Given the description of an element on the screen output the (x, y) to click on. 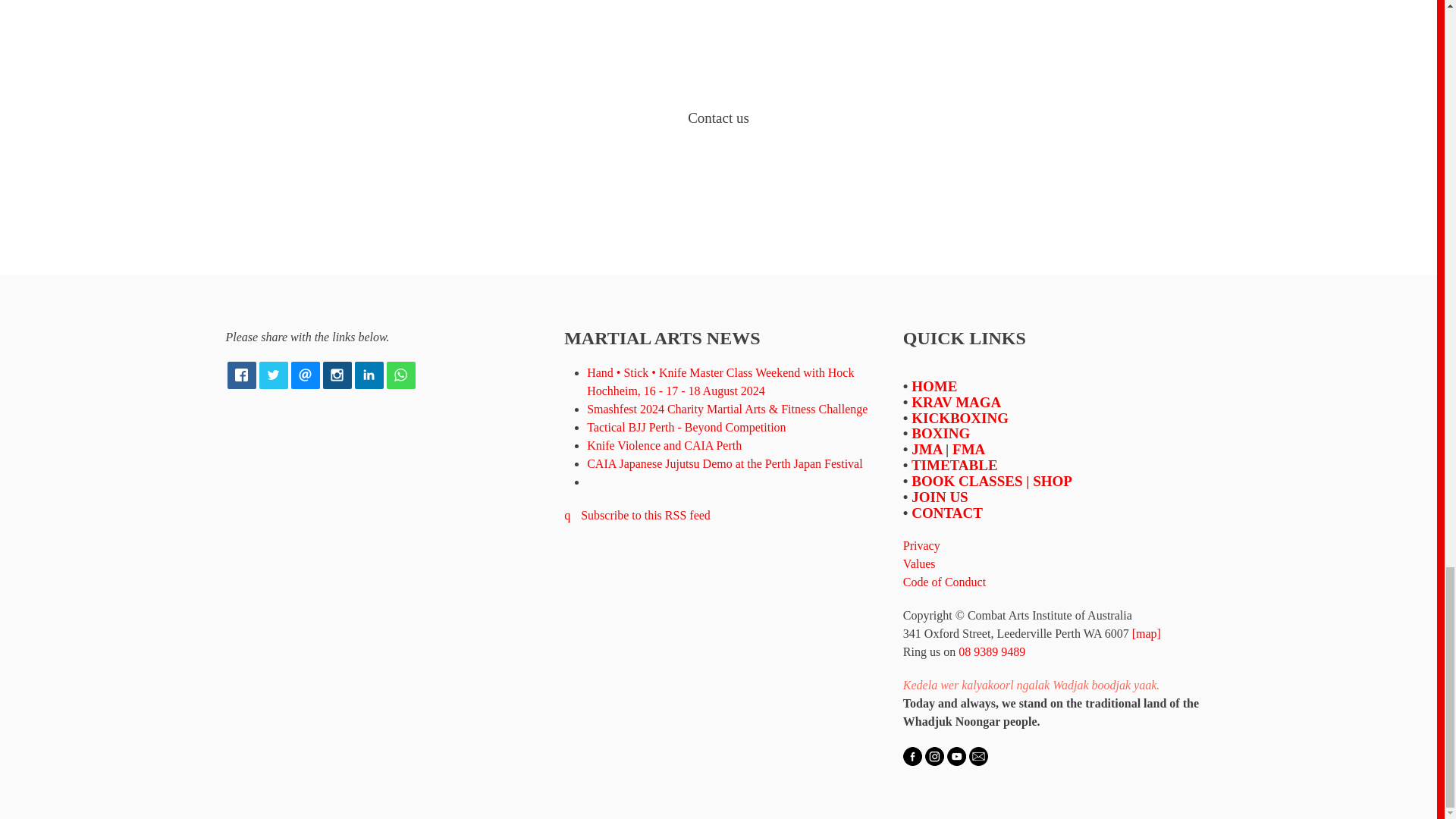
Perth Martial Arts Code of Conduct (943, 581)
Contact CAIA (946, 512)
Krav Maga Perth Privacy (921, 545)
Filipino Escrima Kali Arnis Perth (968, 449)
Boxing Perth (940, 433)
Subscribe to this RSS feed (637, 514)
CAIA Insta (933, 754)
Perth Kickboxing (960, 417)
CAIA Video (956, 754)
Japanese Jujutsu Perth (926, 449)
